Given the description of an element on the screen output the (x, y) to click on. 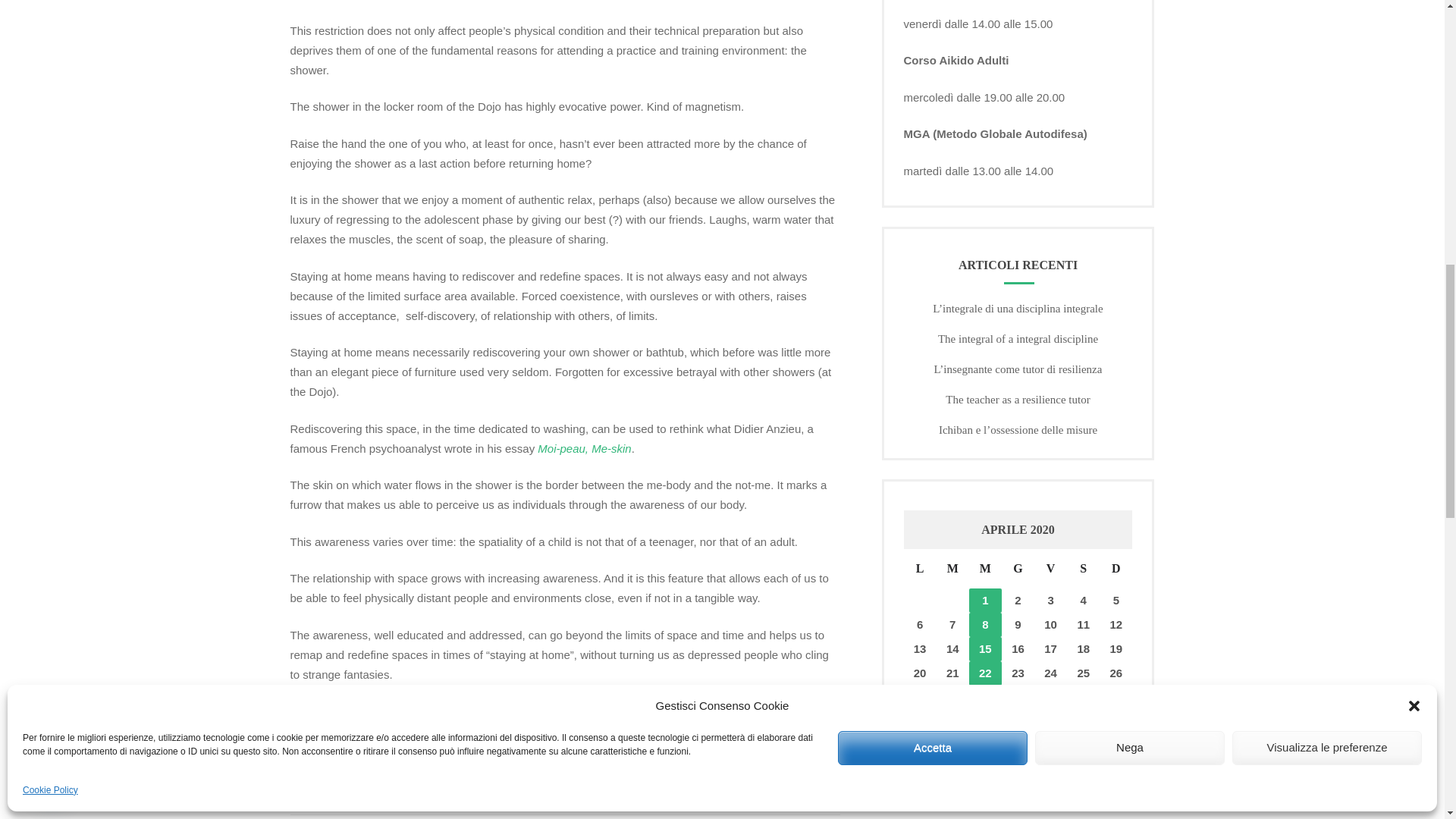
Cookie Policy (50, 380)
Visualizza le preferenze (1326, 338)
Nega (1129, 338)
Moi-peau, Me-skin (583, 447)
Accetta (932, 338)
